Given the description of an element on the screen output the (x, y) to click on. 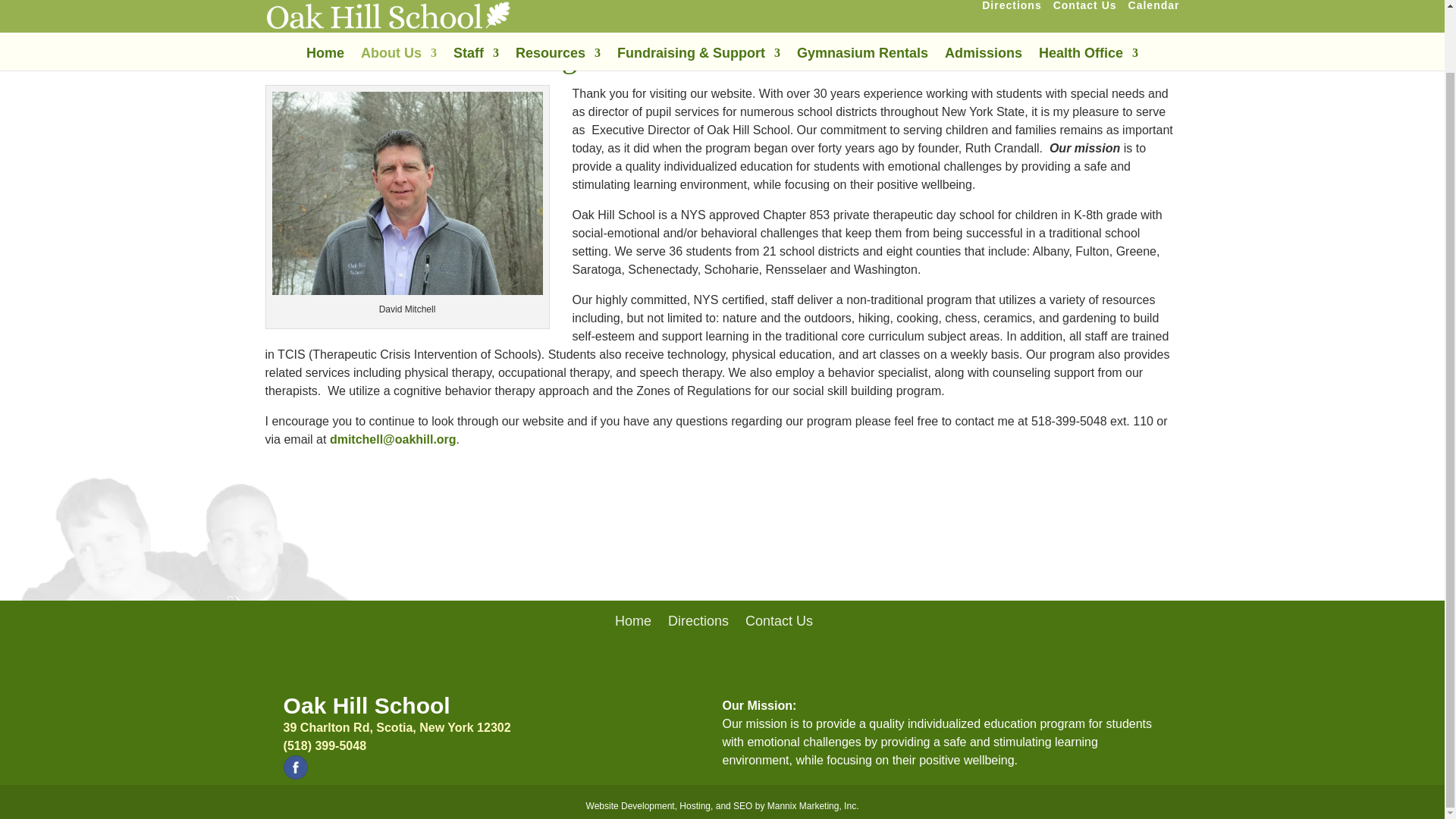
Mannix Marketing (722, 805)
Staff (475, 1)
Resources (557, 1)
Admissions (983, 1)
Health Office (1088, 1)
About Us (398, 1)
Gymnasium Rentals (862, 1)
Home (324, 1)
